Given the description of an element on the screen output the (x, y) to click on. 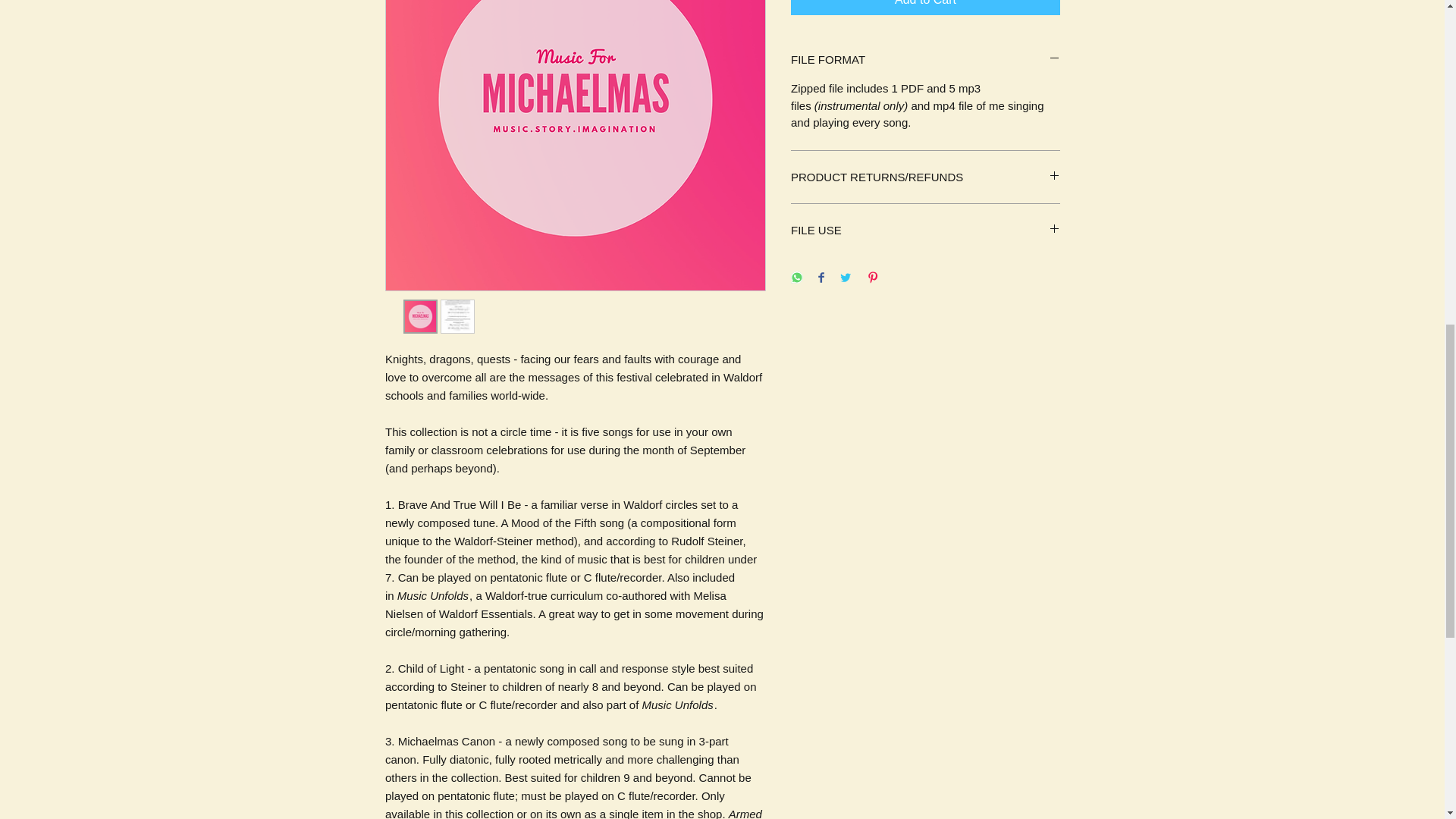
Add to Cart (924, 7)
FILE FORMAT (924, 59)
FILE USE (924, 229)
